Given the description of an element on the screen output the (x, y) to click on. 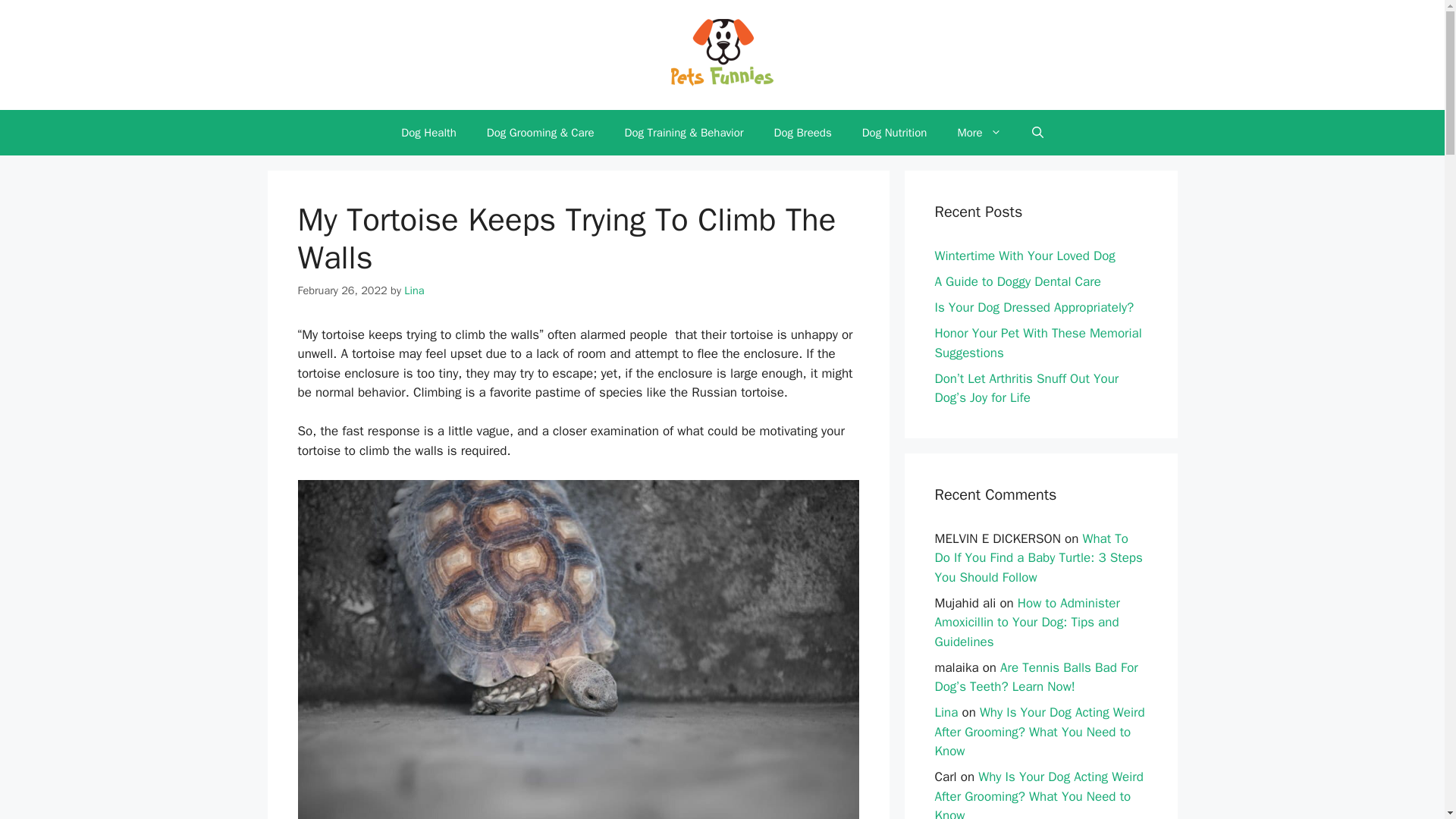
More (979, 132)
Honor Your Pet With These Memorial Suggestions (1037, 343)
Dog Breeds (802, 132)
Lina (946, 712)
Dog Health (428, 132)
View all posts by Lina (413, 290)
Dog Nutrition (894, 132)
Wintertime With Your Loved Dog (1024, 255)
Is Your Dog Dressed Appropriately? (1034, 307)
A Guide to Doggy Dental Care (1017, 281)
Lina (413, 290)
